Given the description of an element on the screen output the (x, y) to click on. 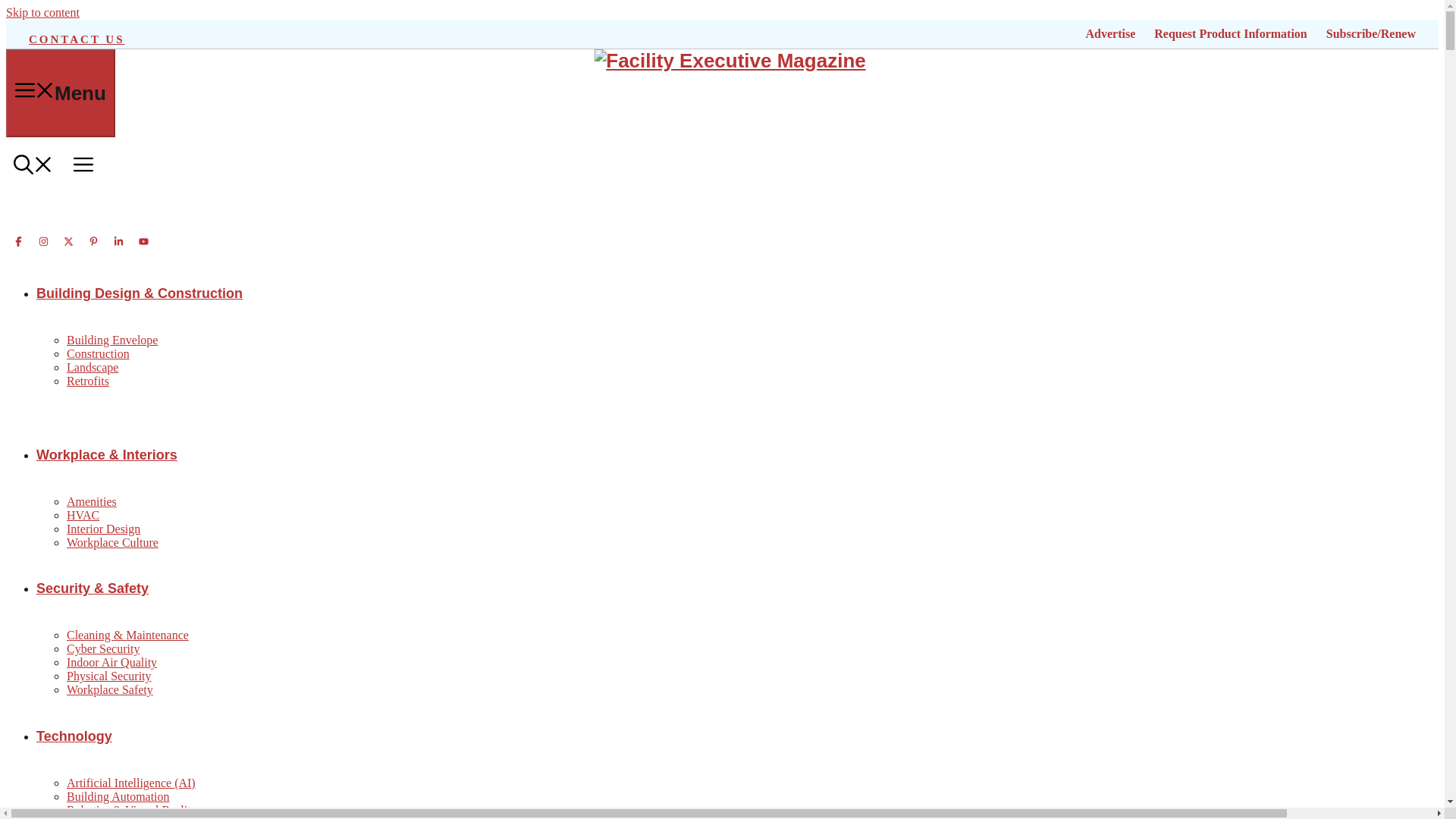
Workplace Safety (109, 689)
Technology (74, 735)
Workplace Culture (112, 542)
Retrofits (87, 380)
Building Envelope (111, 339)
Request Product Information (1230, 33)
Amenities (91, 501)
Landscape (91, 367)
Interior Design (102, 528)
Menu (60, 93)
